Given the description of an element on the screen output the (x, y) to click on. 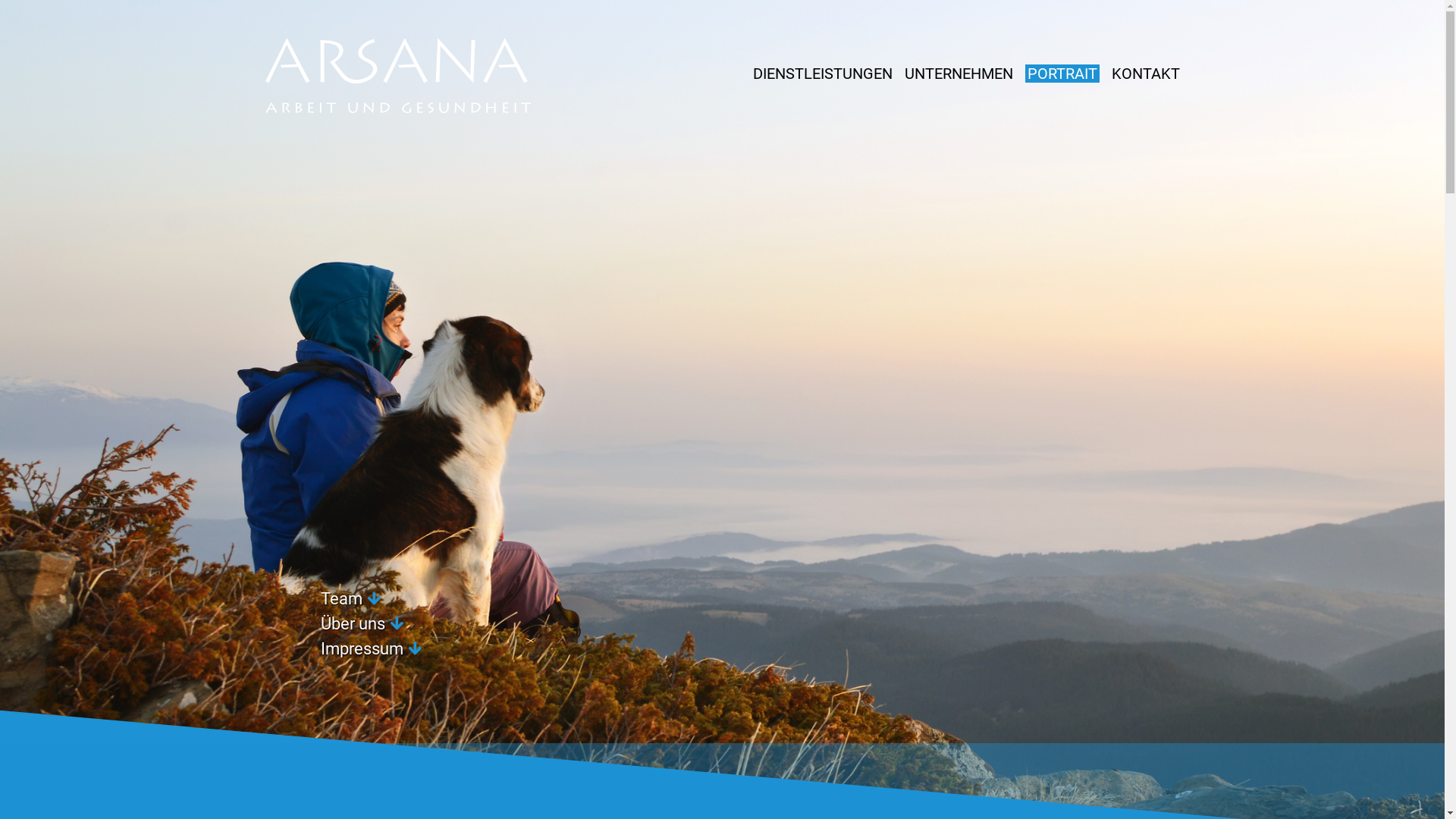
PORTRAIT Element type: text (1062, 73)
Team Element type: text (340, 598)
DIENSTLEISTUNGEN Element type: text (821, 73)
UNTERNEHMEN Element type: text (957, 73)
Impressum Element type: text (361, 648)
KONTAKT Element type: text (1145, 73)
